Given the description of an element on the screen output the (x, y) to click on. 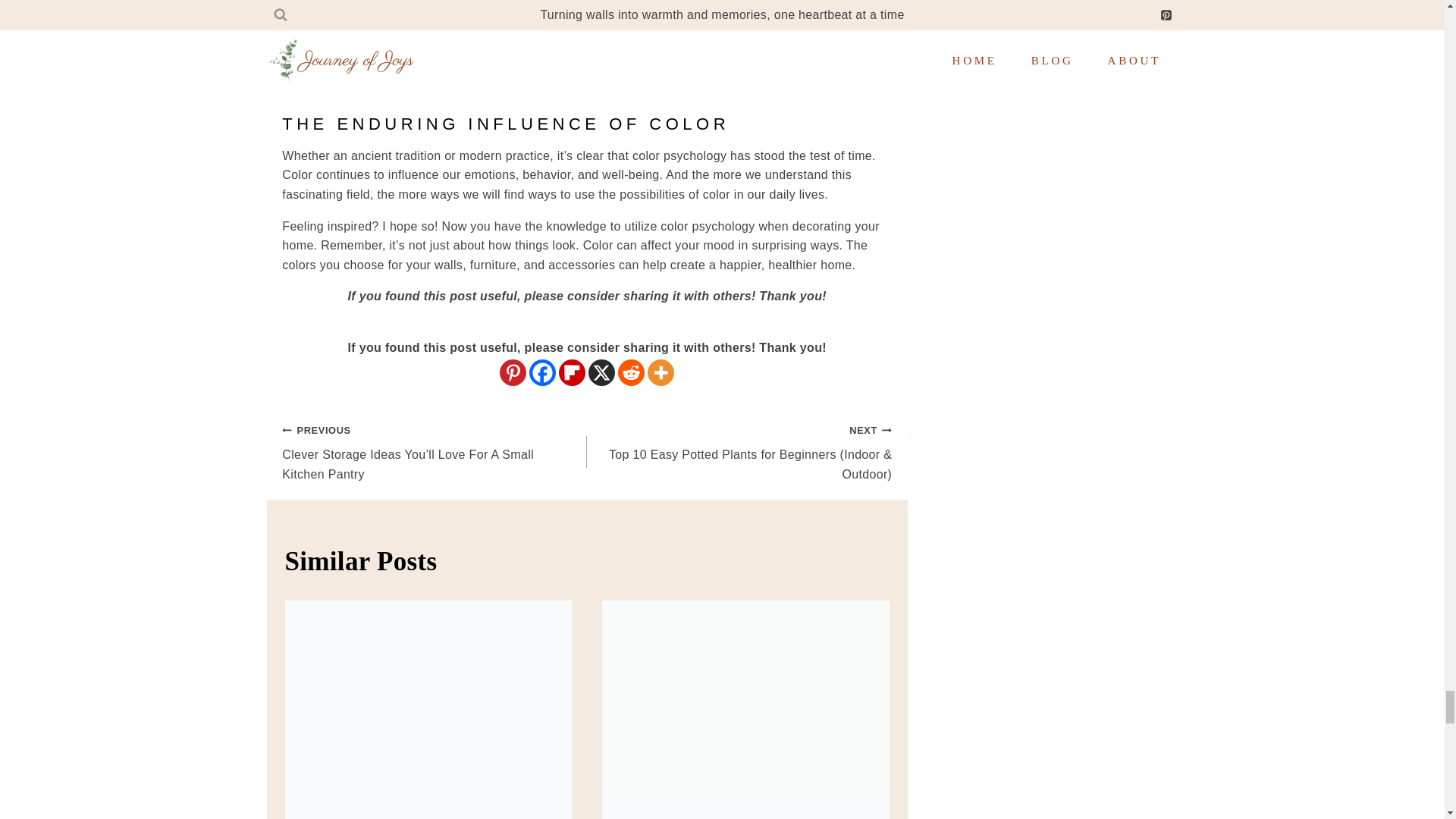
X (601, 372)
Pinterest (512, 372)
More (660, 372)
Flipboard (572, 372)
Reddit (631, 372)
Facebook (542, 372)
